Given the description of an element on the screen output the (x, y) to click on. 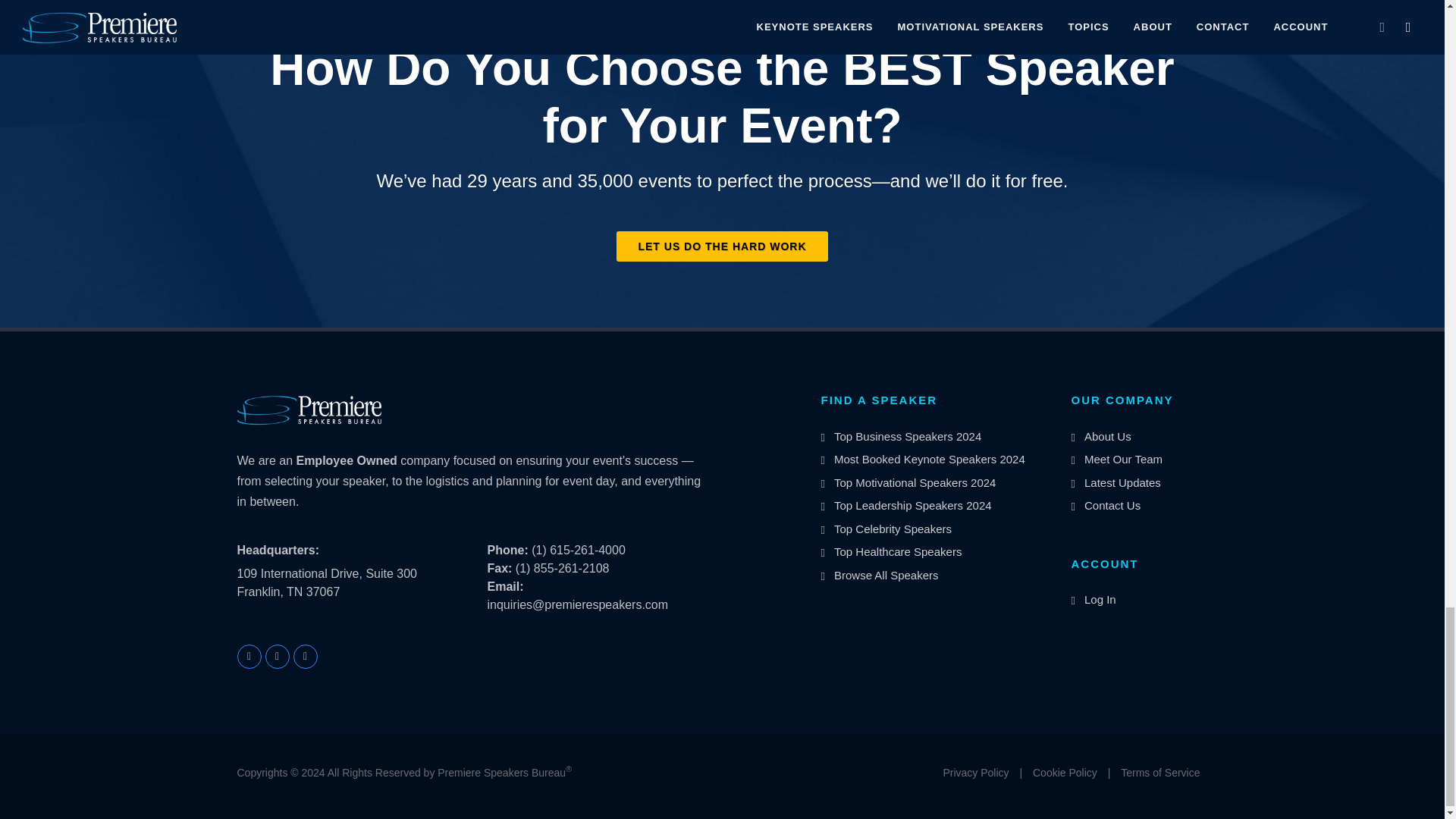
Cookie Policy (1064, 772)
Phone Number (506, 549)
Fax (499, 567)
Headquarters (276, 550)
Terms of Service (1160, 772)
Email Address (504, 585)
Privacy Policy (975, 772)
